Given the description of an element on the screen output the (x, y) to click on. 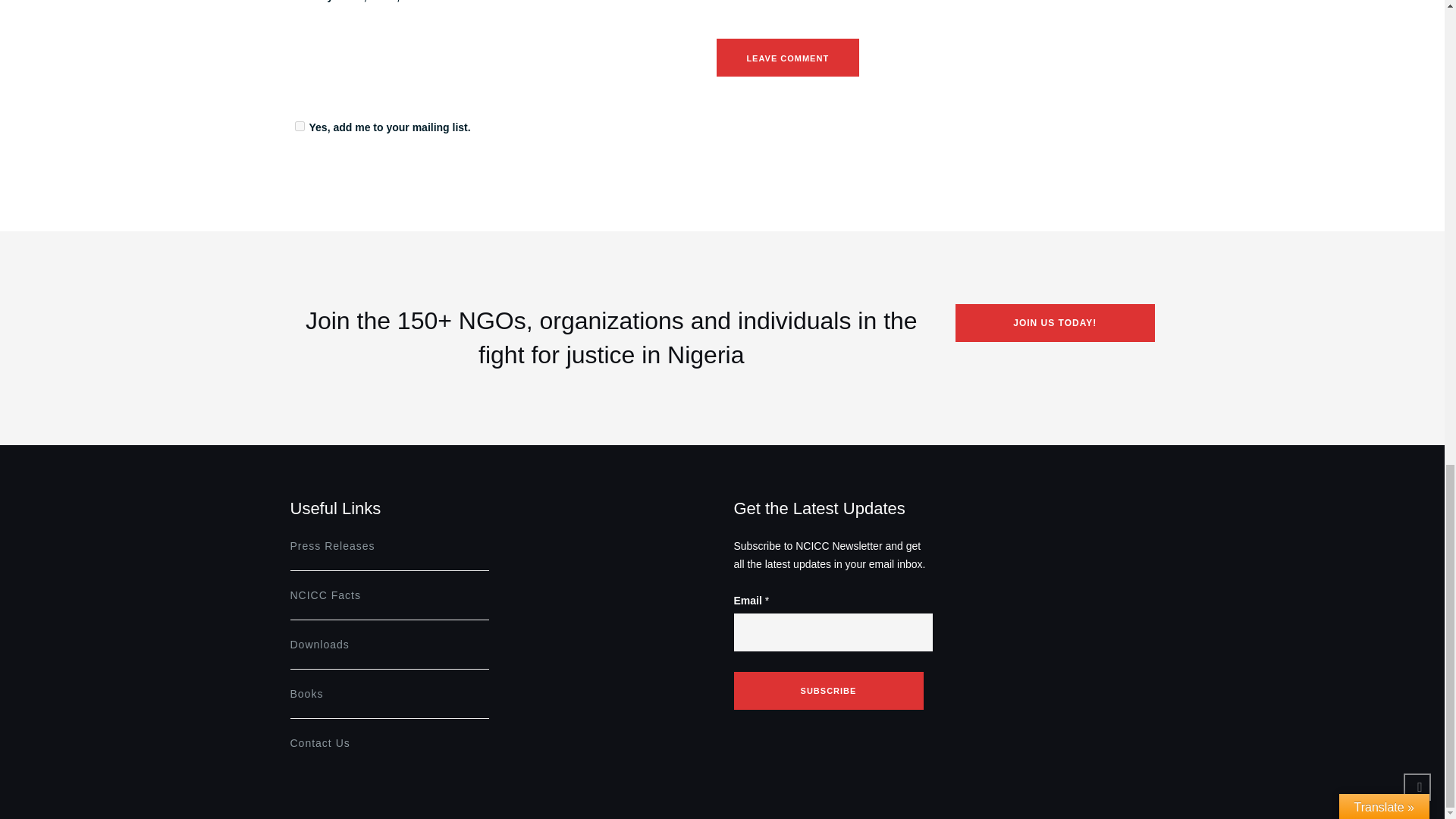
Leave Comment (787, 57)
Press Releases (331, 545)
Contact Us (319, 743)
Subscribe (828, 690)
Downloads (319, 644)
JOIN US TODAY! (1054, 322)
NCICC Facts (324, 594)
1 (298, 126)
Leave Comment (787, 57)
Subscribe (828, 690)
